Given the description of an element on the screen output the (x, y) to click on. 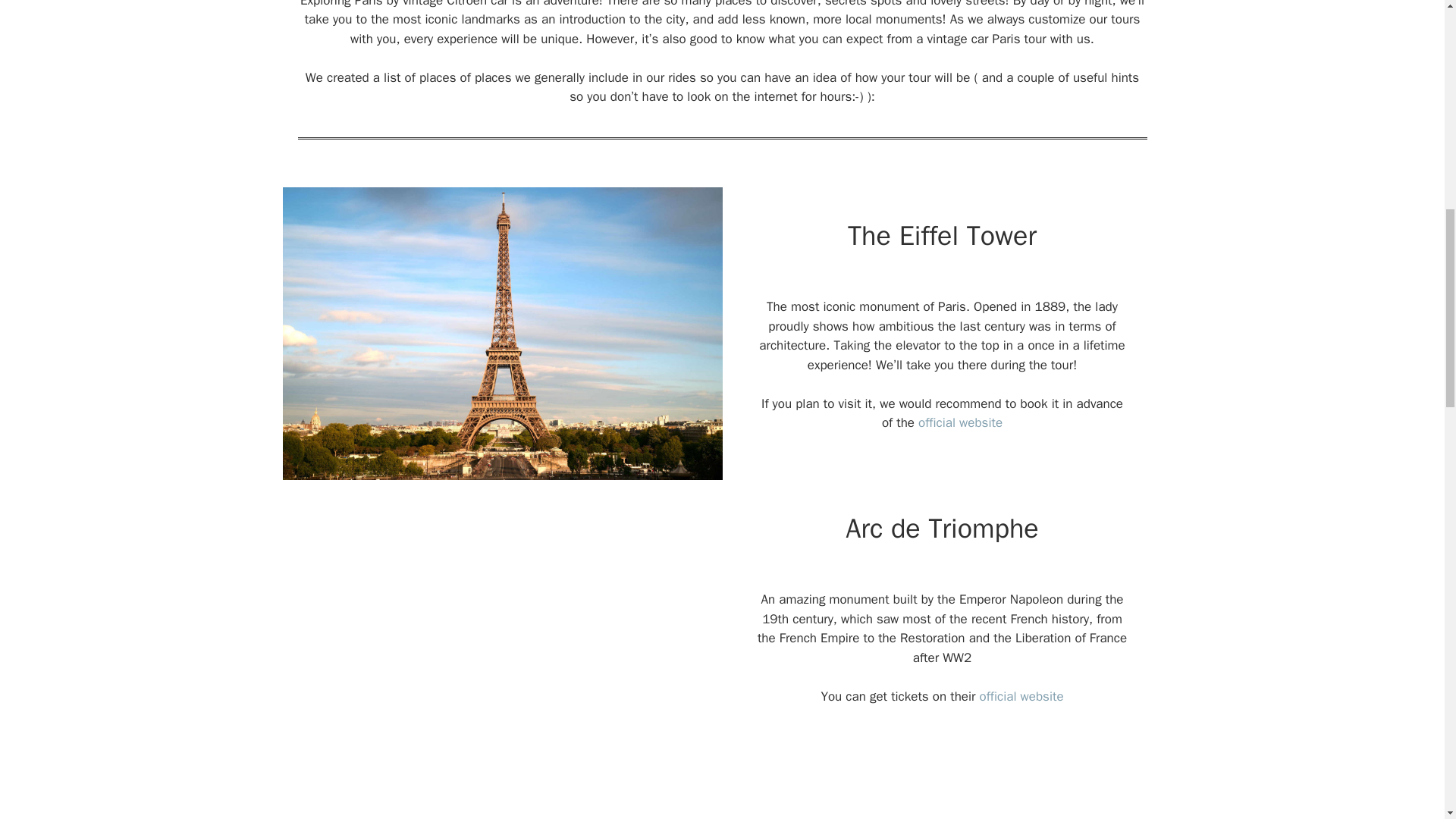
official website (960, 422)
official website (1021, 696)
